Given the description of an element on the screen output the (x, y) to click on. 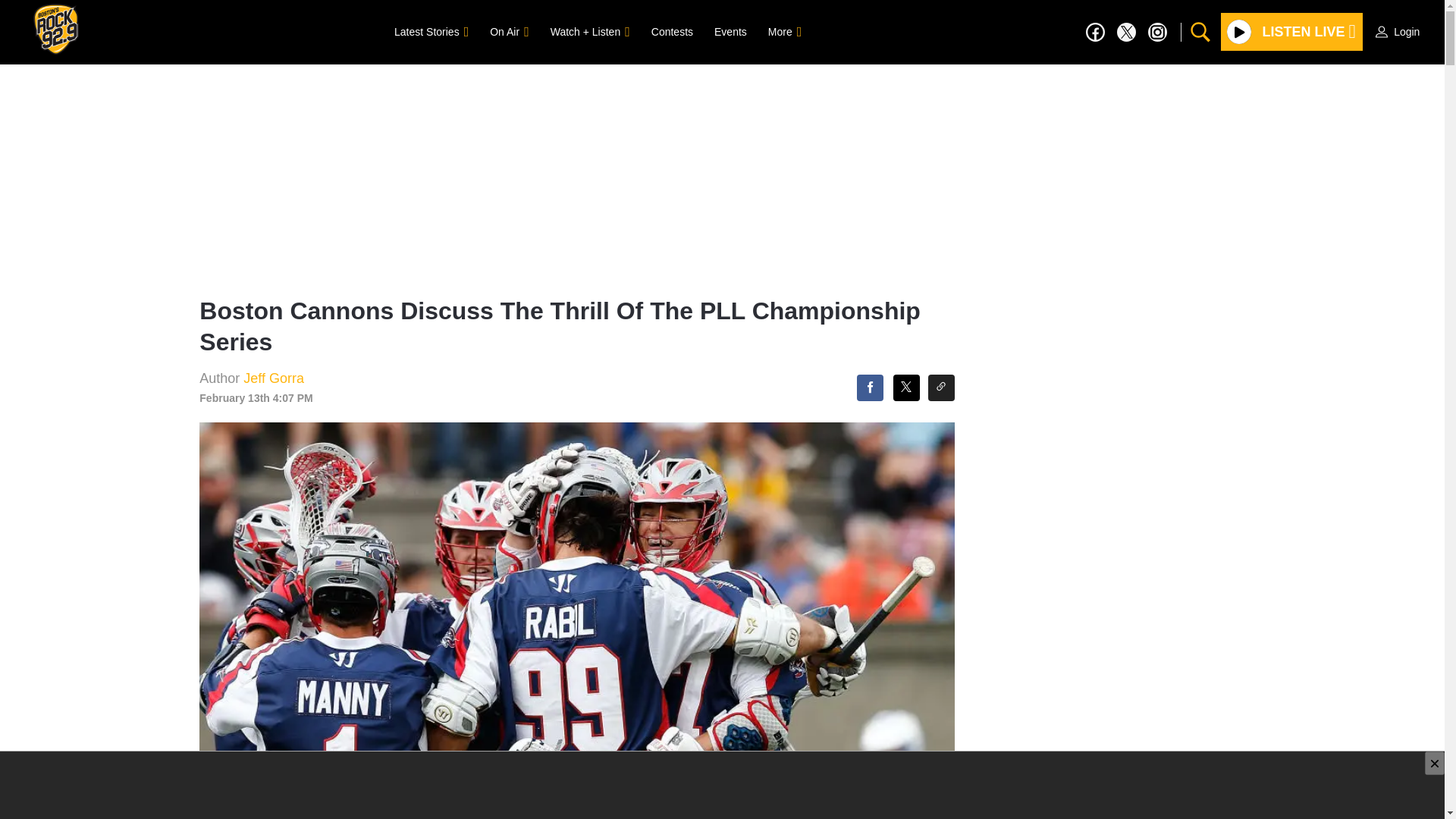
Contests (671, 31)
More (784, 31)
On Air (508, 31)
Events (730, 31)
Latest Stories (431, 31)
Jeff Gorra (273, 378)
